Given the description of an element on the screen output the (x, y) to click on. 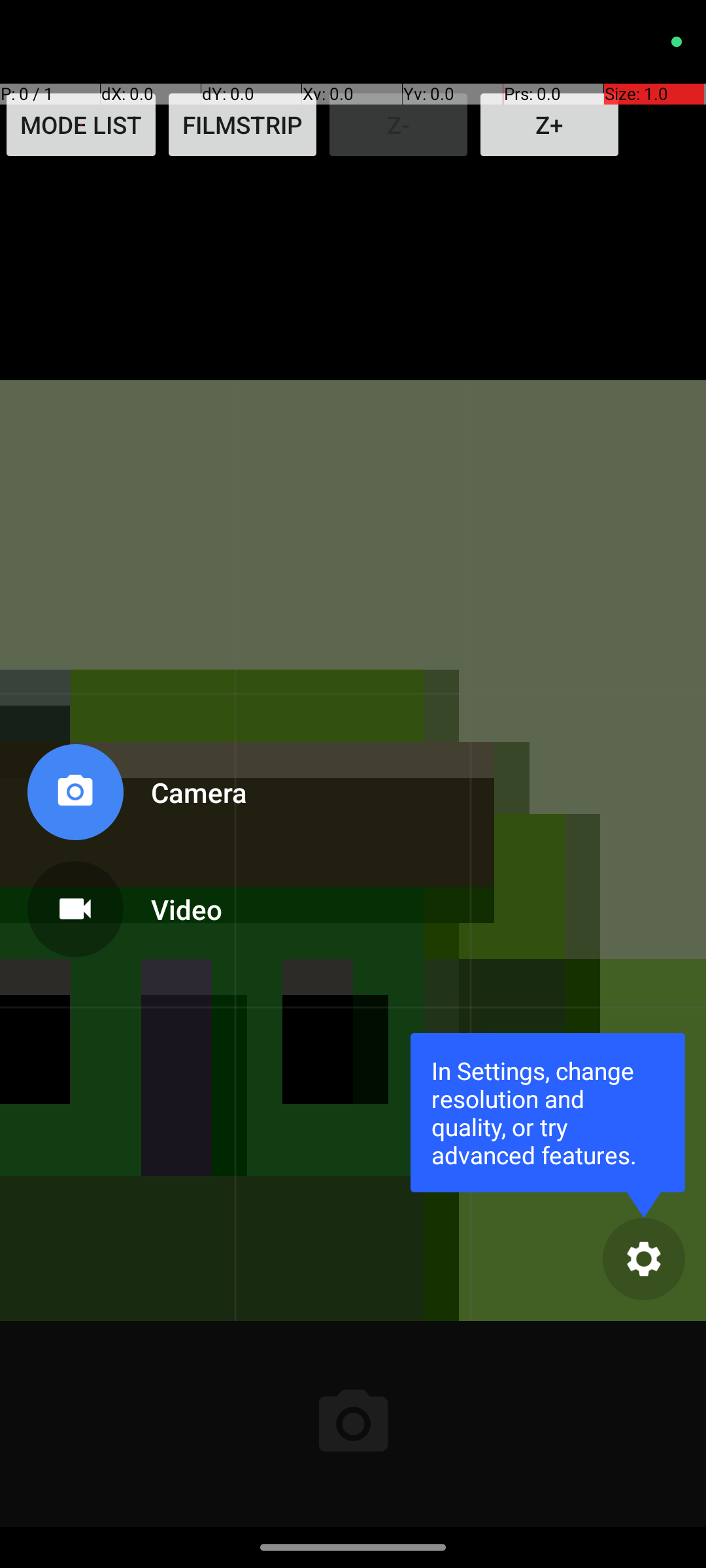
Switch to Camera Mode Element type: android.widget.FrameLayout (134, 797)
Switch to Video Camera Element type: android.widget.FrameLayout (134, 903)
In Settings, change resolution and quality, or try advanced features. Element type: android.widget.TextView (547, 1112)
